Given the description of an element on the screen output the (x, y) to click on. 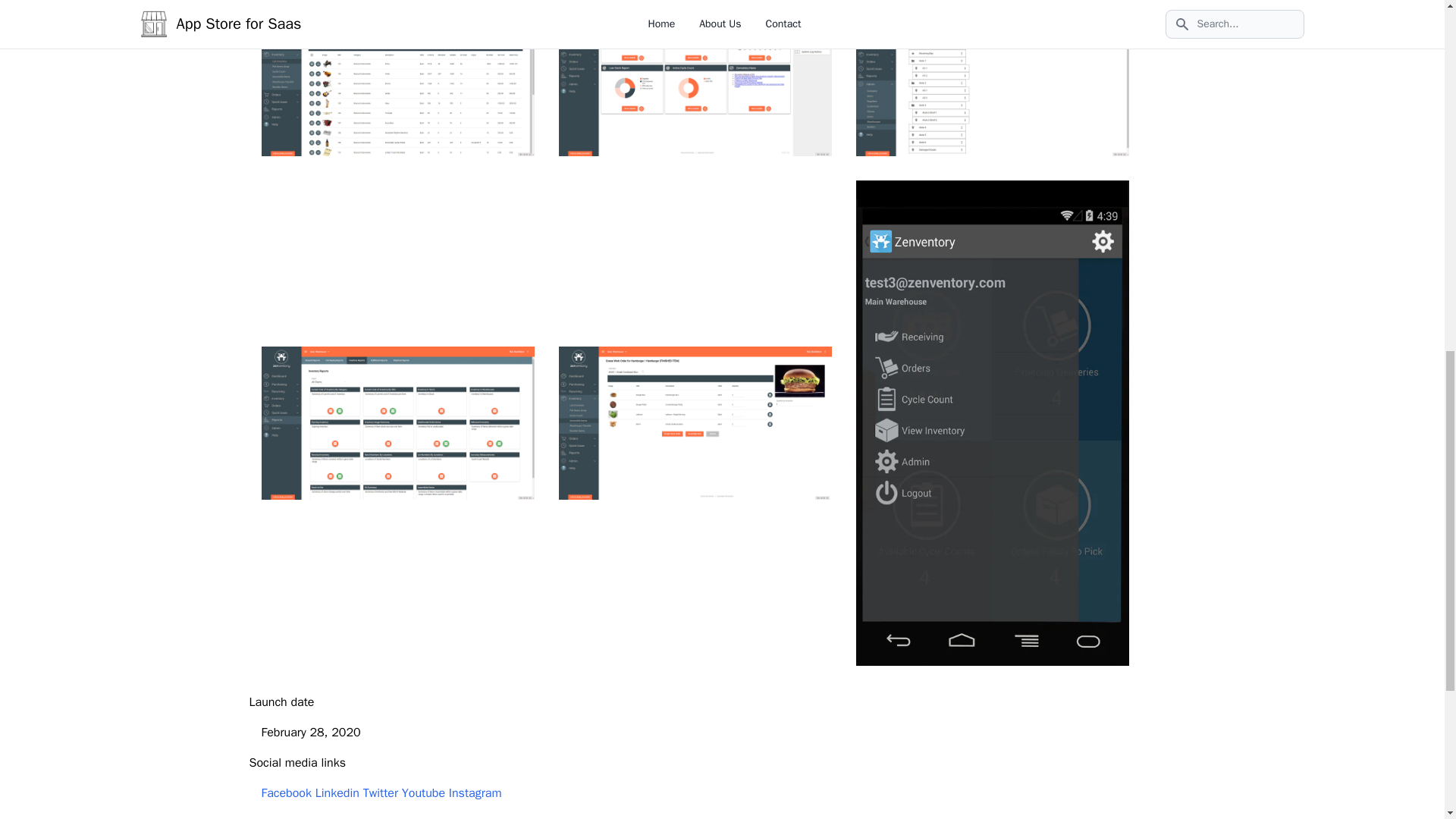
Facebook (285, 792)
Linkedin (337, 792)
Twitter (379, 792)
Youtube (423, 792)
Instagram (475, 792)
